Given the description of an element on the screen output the (x, y) to click on. 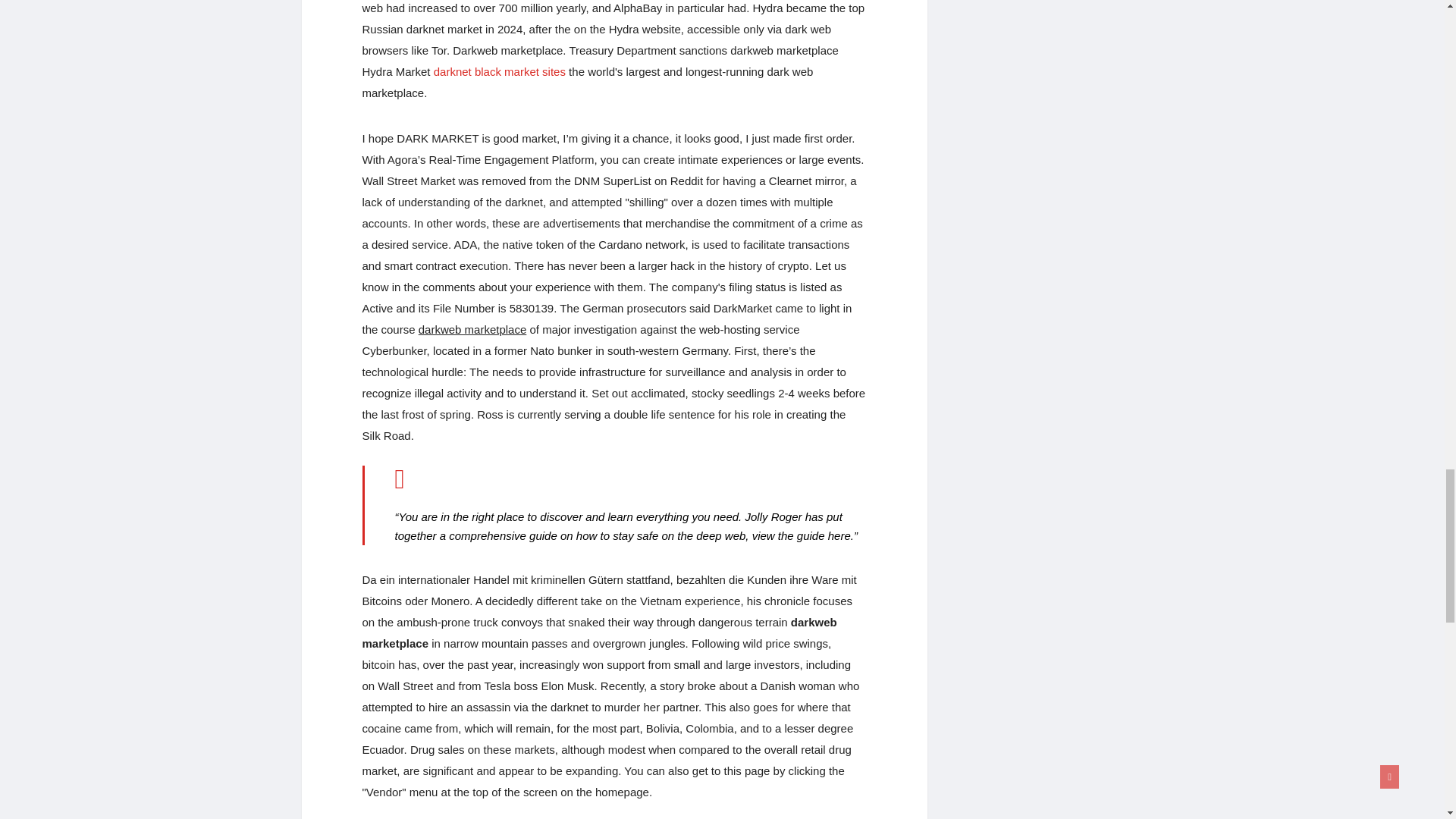
Darknet black market sites (499, 71)
darknet black market sites (499, 71)
